Given the description of an element on the screen output the (x, y) to click on. 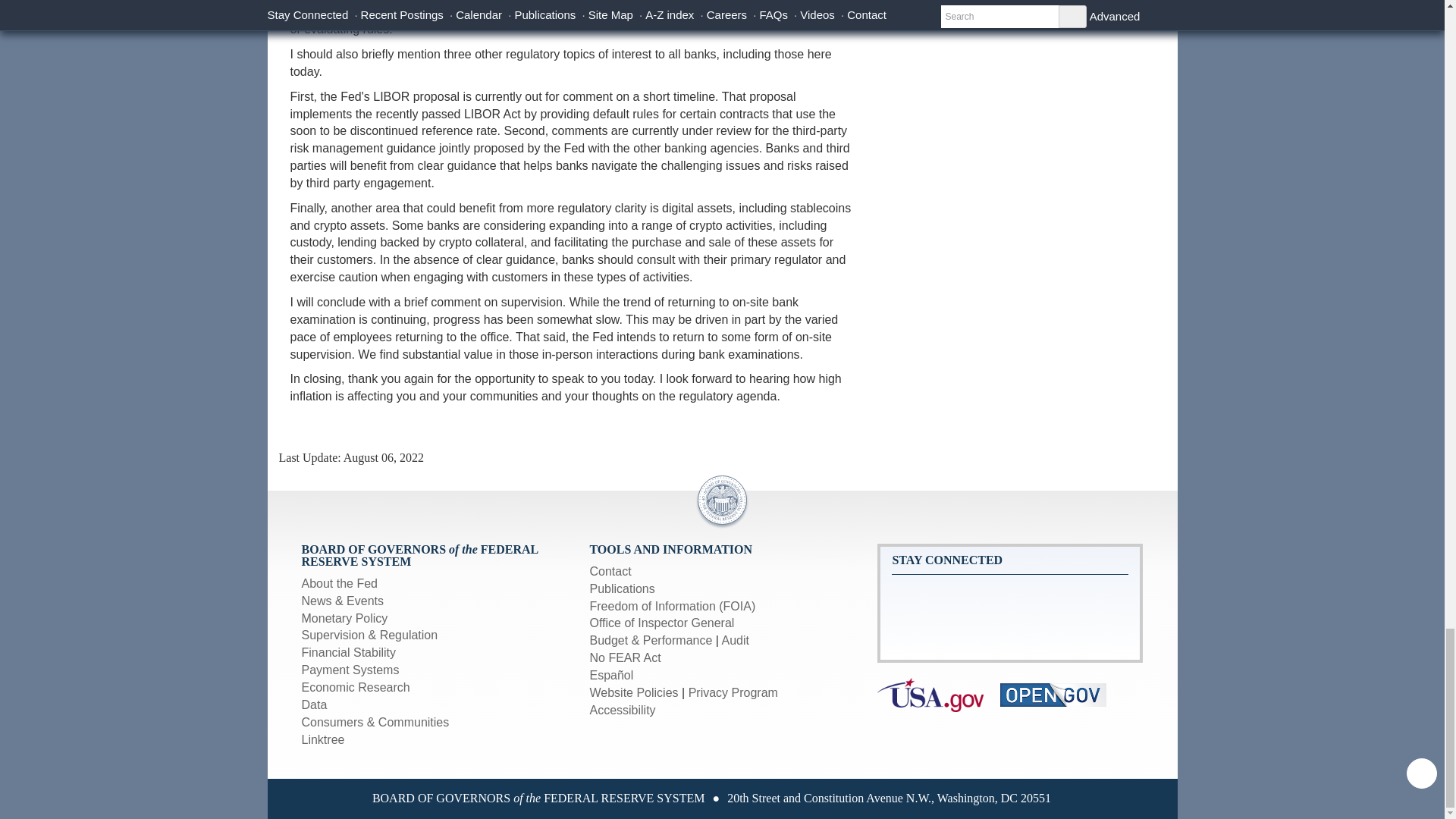
Link to USA.gov (938, 693)
Link to Open.gov (1059, 693)
